Given the description of an element on the screen output the (x, y) to click on. 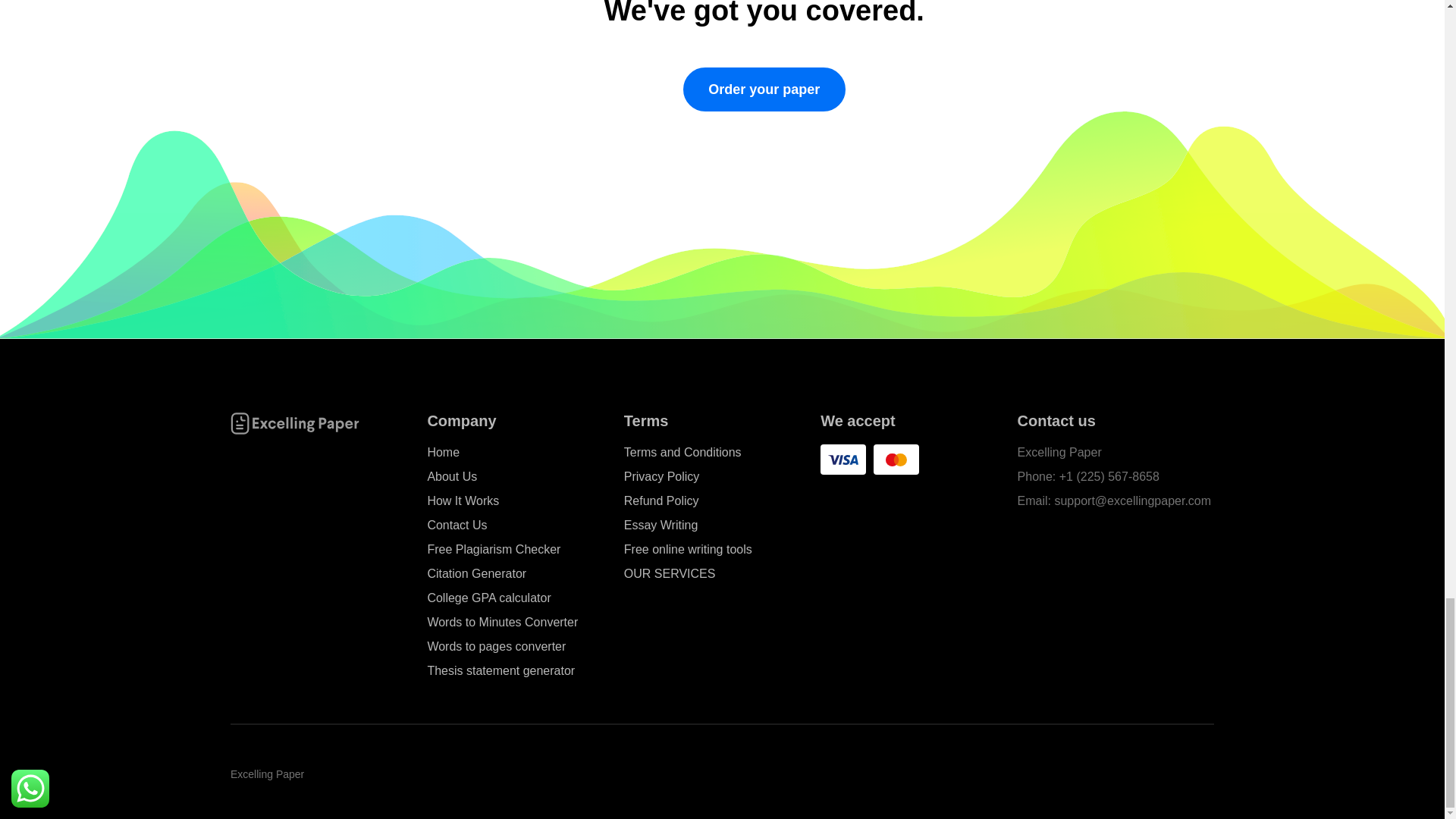
Terms and Conditions (682, 452)
Thesis statement generator (500, 671)
College GPA calculator (488, 598)
Home (443, 452)
Free Plagiarism Checker (493, 549)
Citation Generator (475, 574)
Words to Minutes Converter (502, 622)
How It Works (462, 501)
Contact Us (456, 525)
Order your paper (763, 89)
About Us (451, 477)
Privacy Policy (662, 477)
Words to pages converter (496, 646)
